Given the description of an element on the screen output the (x, y) to click on. 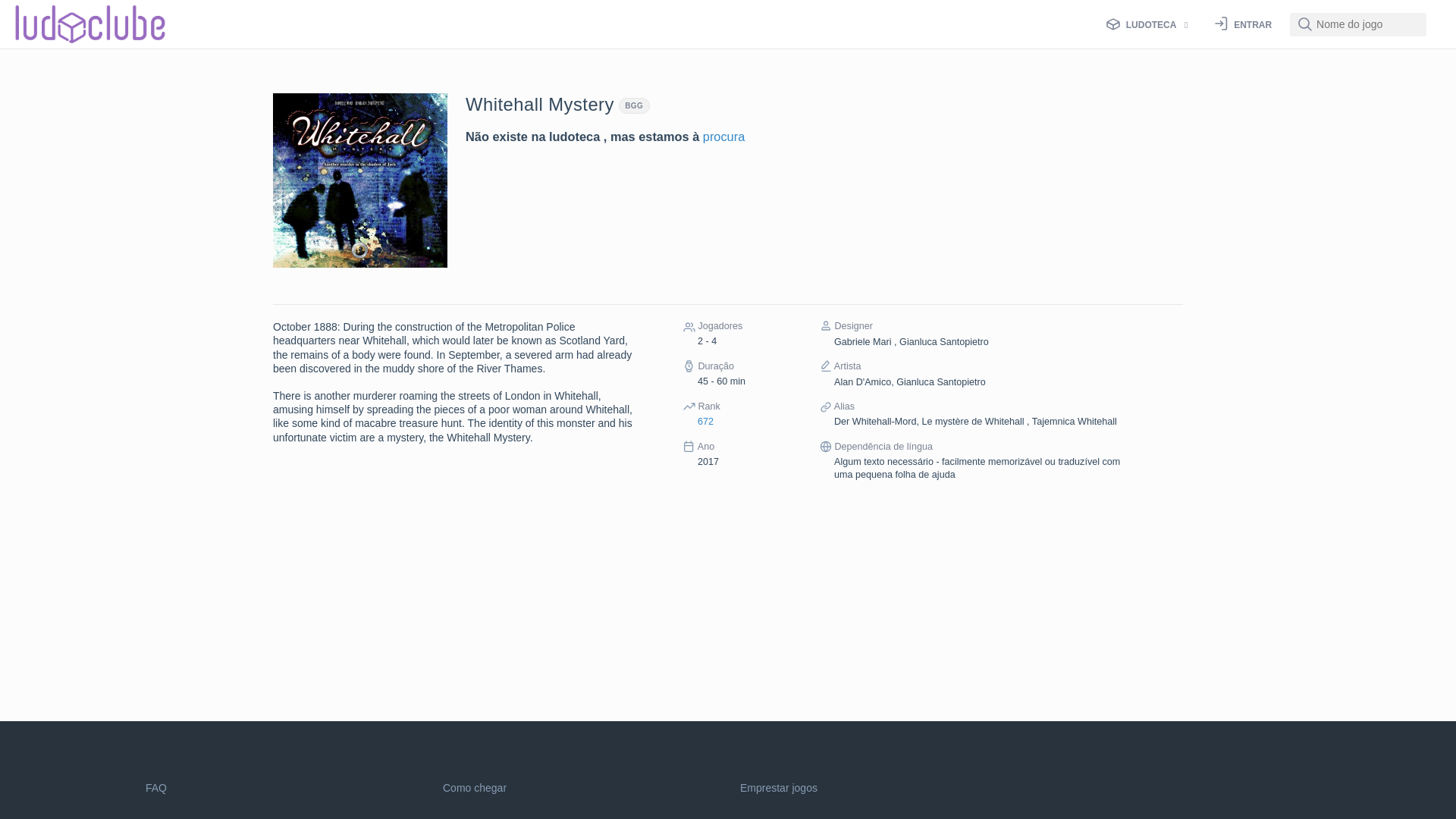
Emprestar jogos (777, 787)
FAQ (156, 787)
672 (705, 421)
procura (723, 136)
LUDOTECA (1150, 23)
Como chegar (474, 787)
ENTRAR (1246, 23)
 BGG  (633, 105)
